Given the description of an element on the screen output the (x, y) to click on. 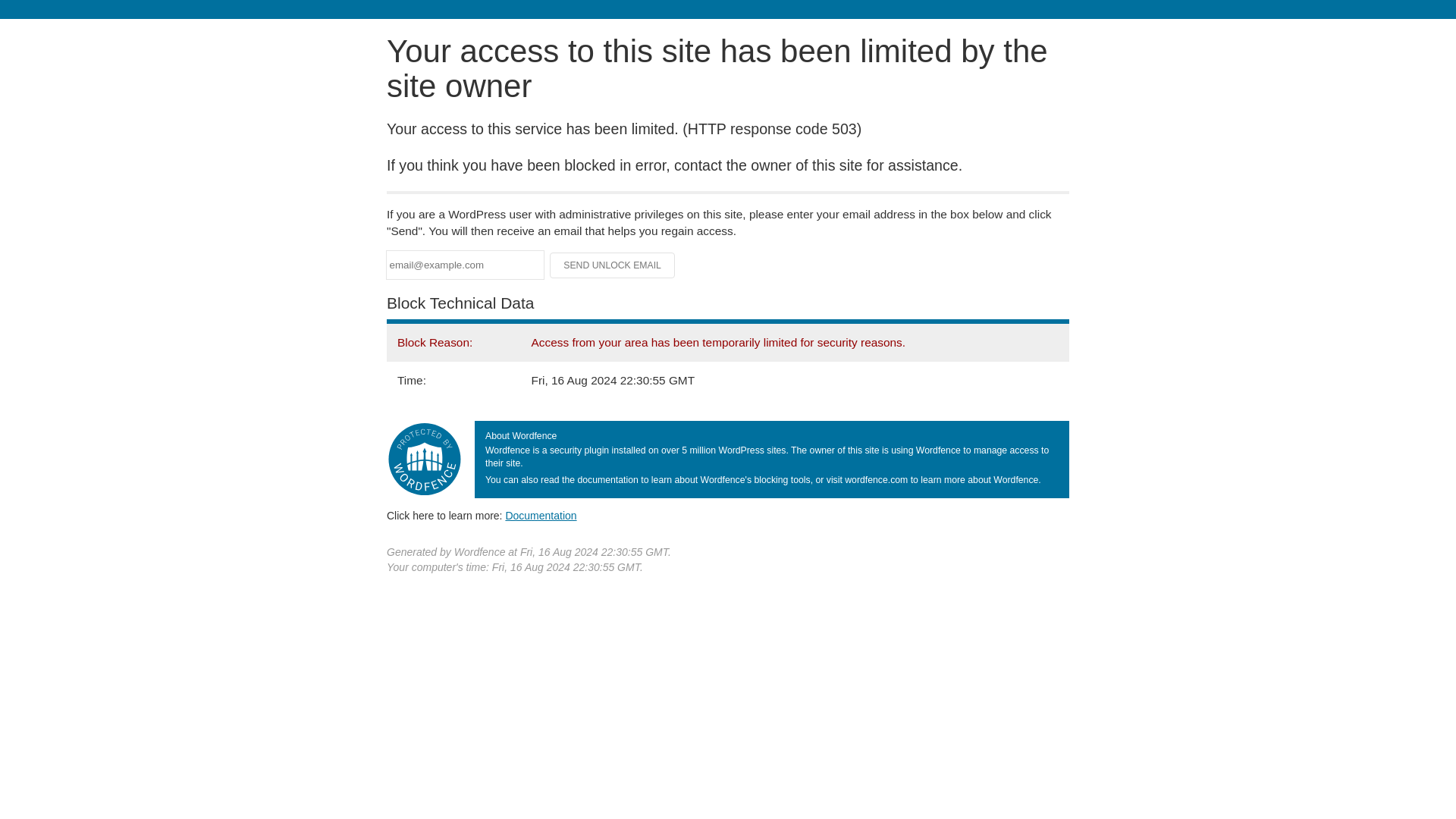
Send Unlock Email (612, 265)
Send Unlock Email (612, 265)
Documentation (540, 515)
